Given the description of an element on the screen output the (x, y) to click on. 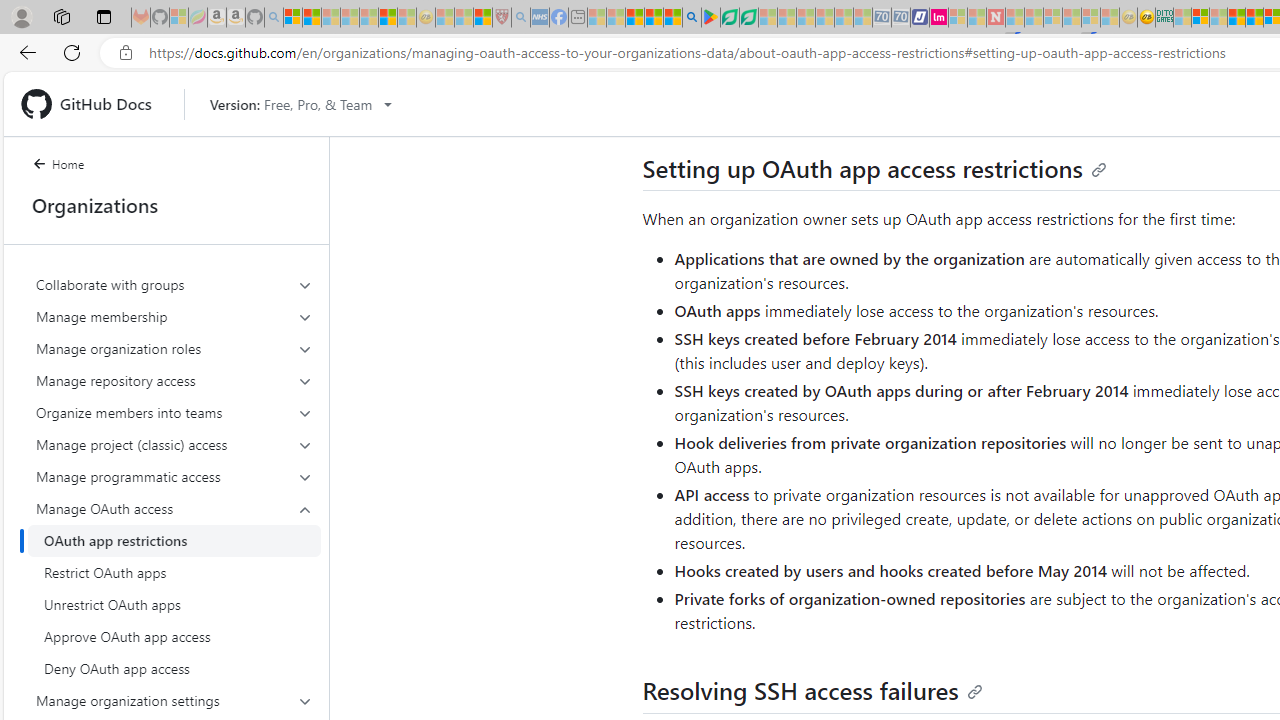
Setting up a trial of GitHub Enterprise Cloud (1066, 101)
Pets - MSN (654, 17)
Restrict OAuth apps (174, 572)
Manage repository access (174, 380)
Collaborate with groups (174, 284)
Manage repository access (174, 380)
Kinda Frugal - MSN (1254, 17)
Manage organization settings (174, 700)
GitHub Docs (93, 103)
